Given the description of an element on the screen output the (x, y) to click on. 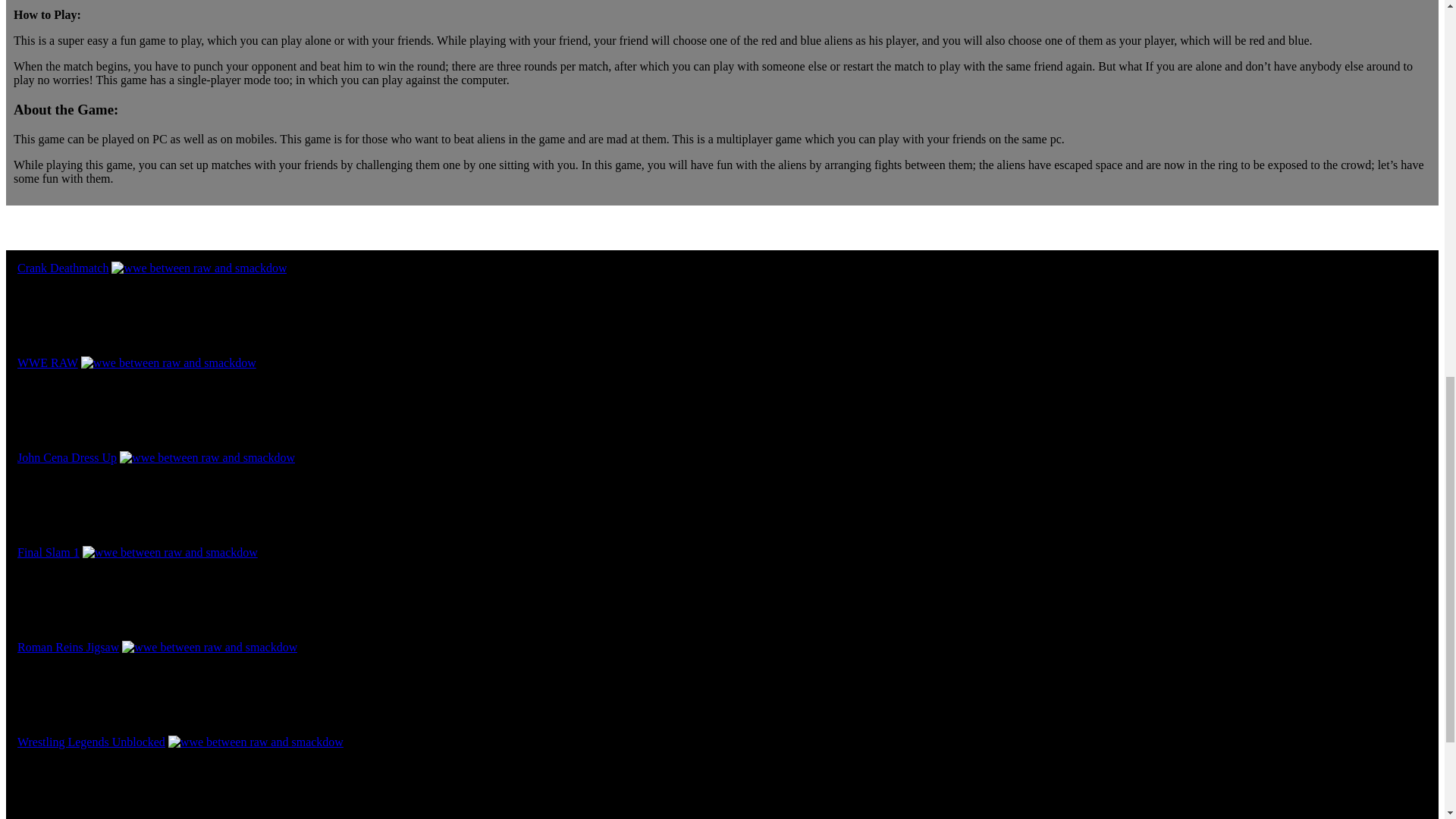
WWE RAW (47, 362)
Final Slam 1 (48, 552)
Roman Reins Jigsaw (68, 646)
Crank Deathmatch (62, 267)
John Cena Dress Up (66, 457)
Wrestling Legends Unblocked (91, 741)
